Given the description of an element on the screen output the (x, y) to click on. 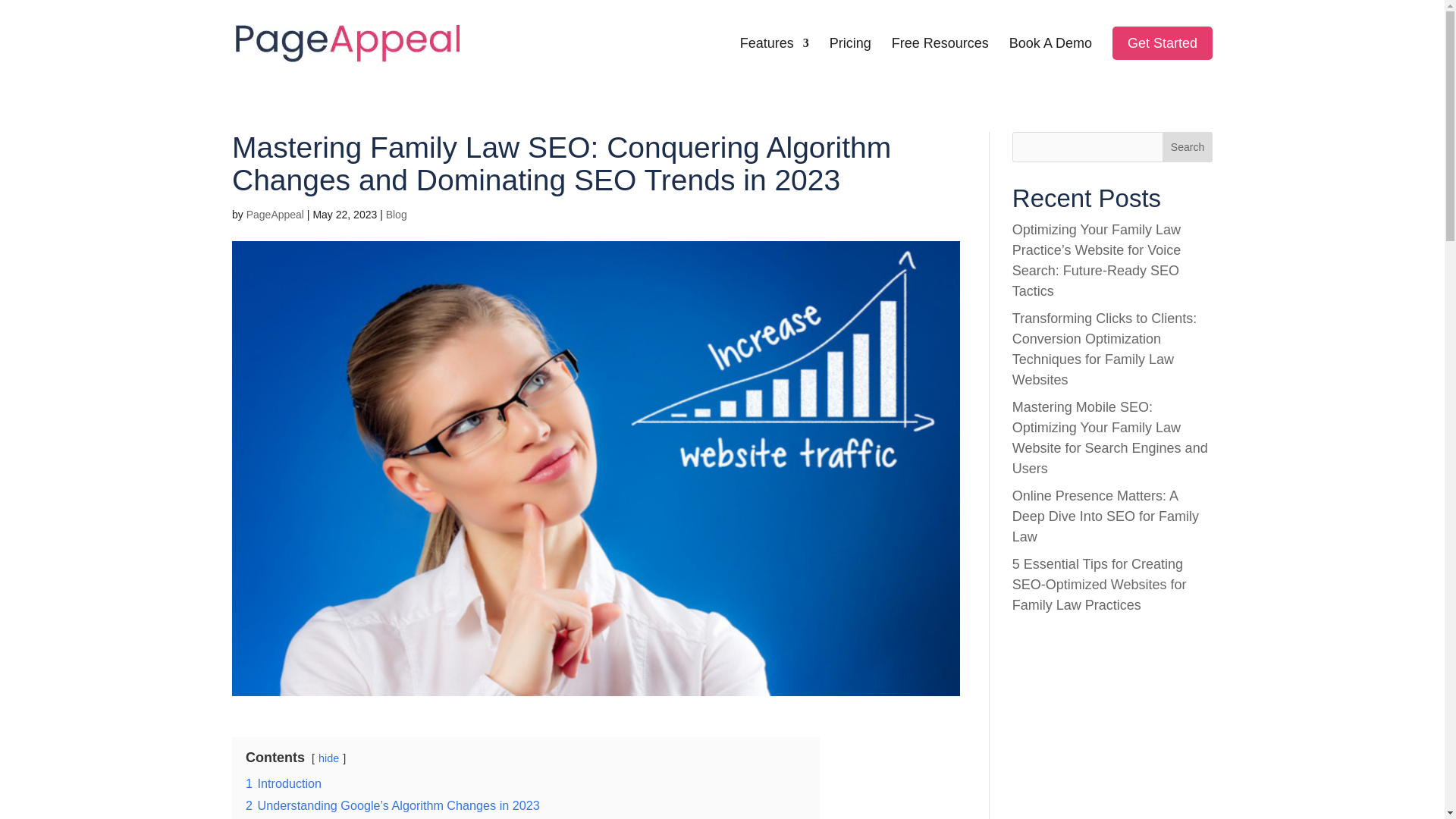
Features (774, 61)
demo (1162, 42)
Book A Demo (1050, 61)
Blog (396, 214)
1 Introduction (283, 783)
Posts by PageAppeal (275, 214)
Free Resources (939, 61)
Search (1186, 146)
PageAppeal (275, 214)
